Given the description of an element on the screen output the (x, y) to click on. 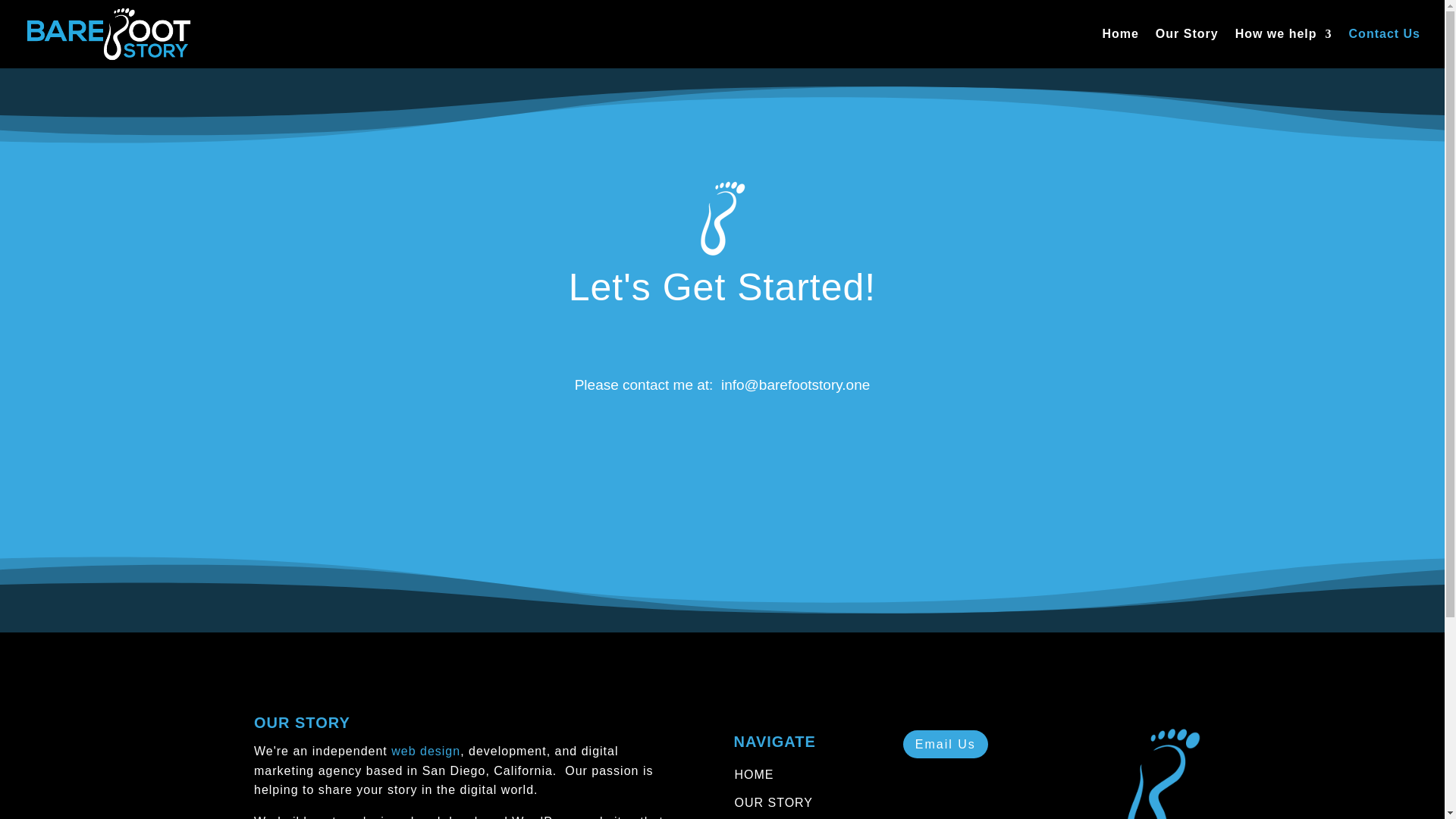
San Diego Website Design (425, 750)
Home (1120, 47)
HOW WE HELP (782, 817)
web design (425, 750)
HOME (754, 774)
OUR STORY (773, 802)
Email Us (945, 744)
How we help (1283, 47)
Our Story (1187, 47)
Contact Us (1385, 47)
